Given the description of an element on the screen output the (x, y) to click on. 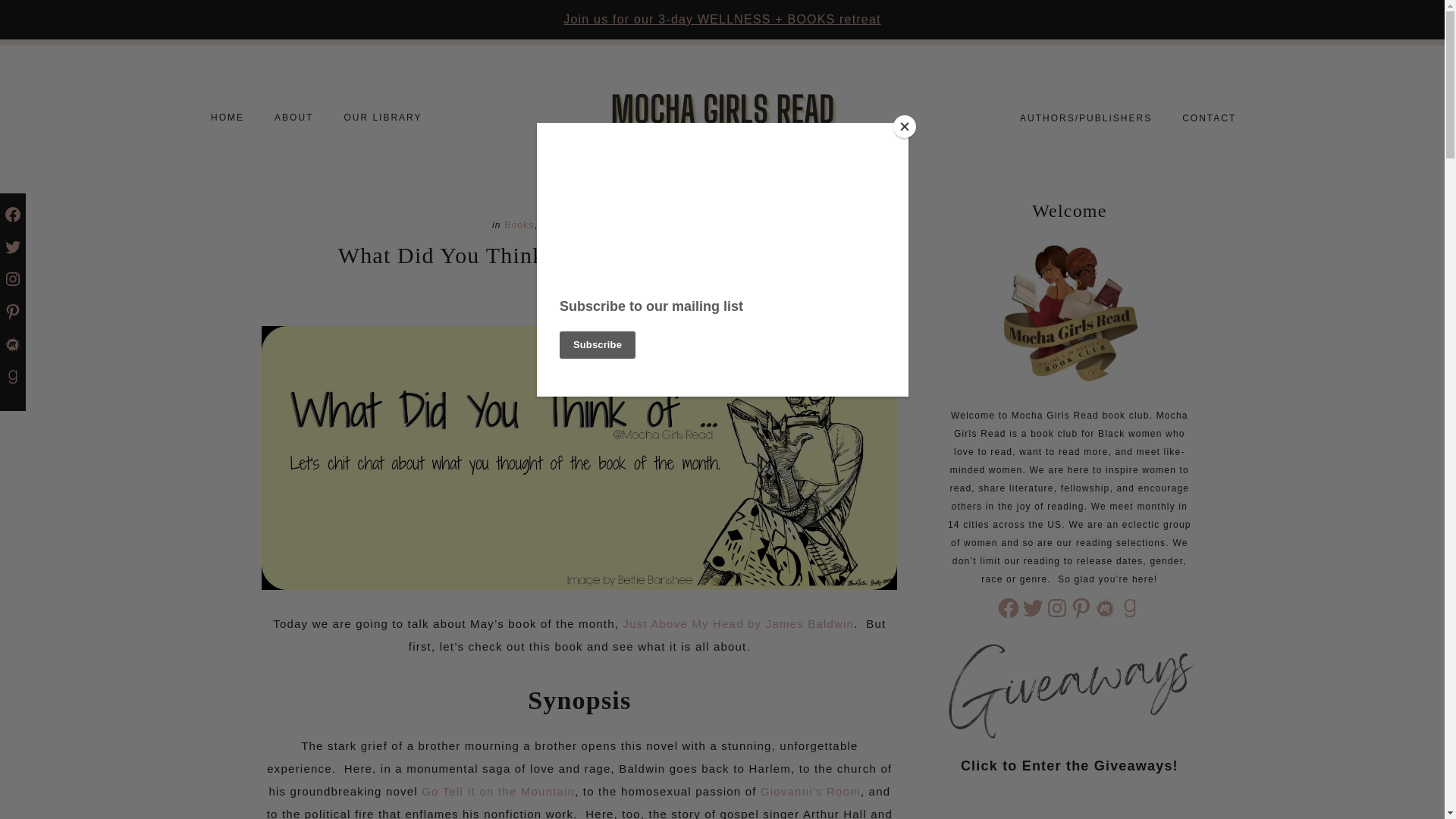
Books (518, 225)
Go Tell It on the Mountain (498, 790)
OUR LIBRARY (382, 117)
CONTACT (1208, 118)
Mocha Girls Read (722, 117)
Chit Chat (564, 225)
ABOUT (294, 119)
HOME (227, 119)
Just Above My Head by James Baldwin (738, 623)
